Given the description of an element on the screen output the (x, y) to click on. 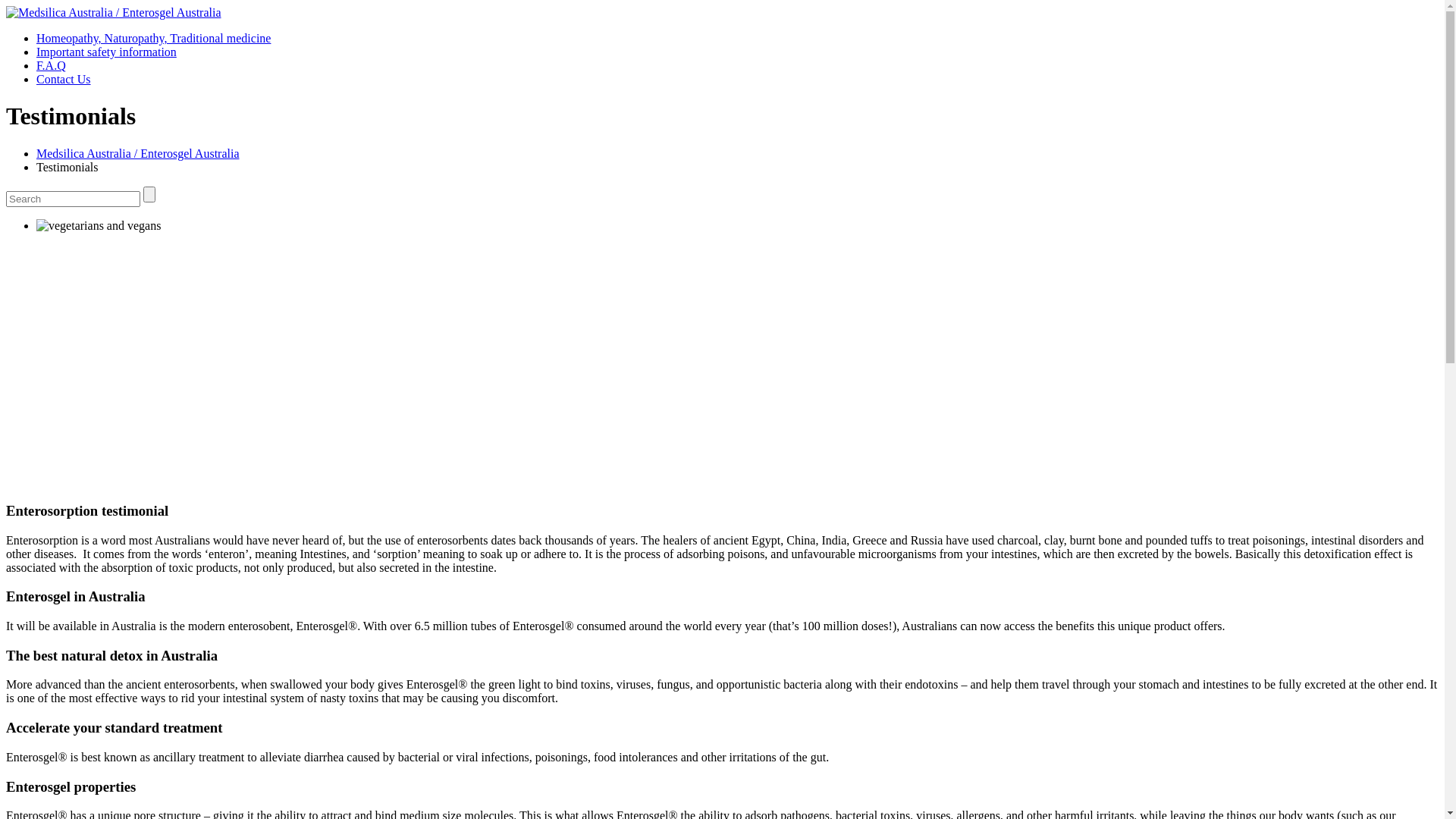
Contact Us Element type: text (63, 78)
Enterosgel sugar free Element type: hover (98, 225)
Medsilica Australia / Enterosgel Australia Element type: text (137, 153)
Important safety information Element type: text (106, 51)
Homeopathy, Naturopathy, Traditional medicine Element type: text (153, 37)
F.A.Q Element type: text (50, 65)
